Given the description of an element on the screen output the (x, y) to click on. 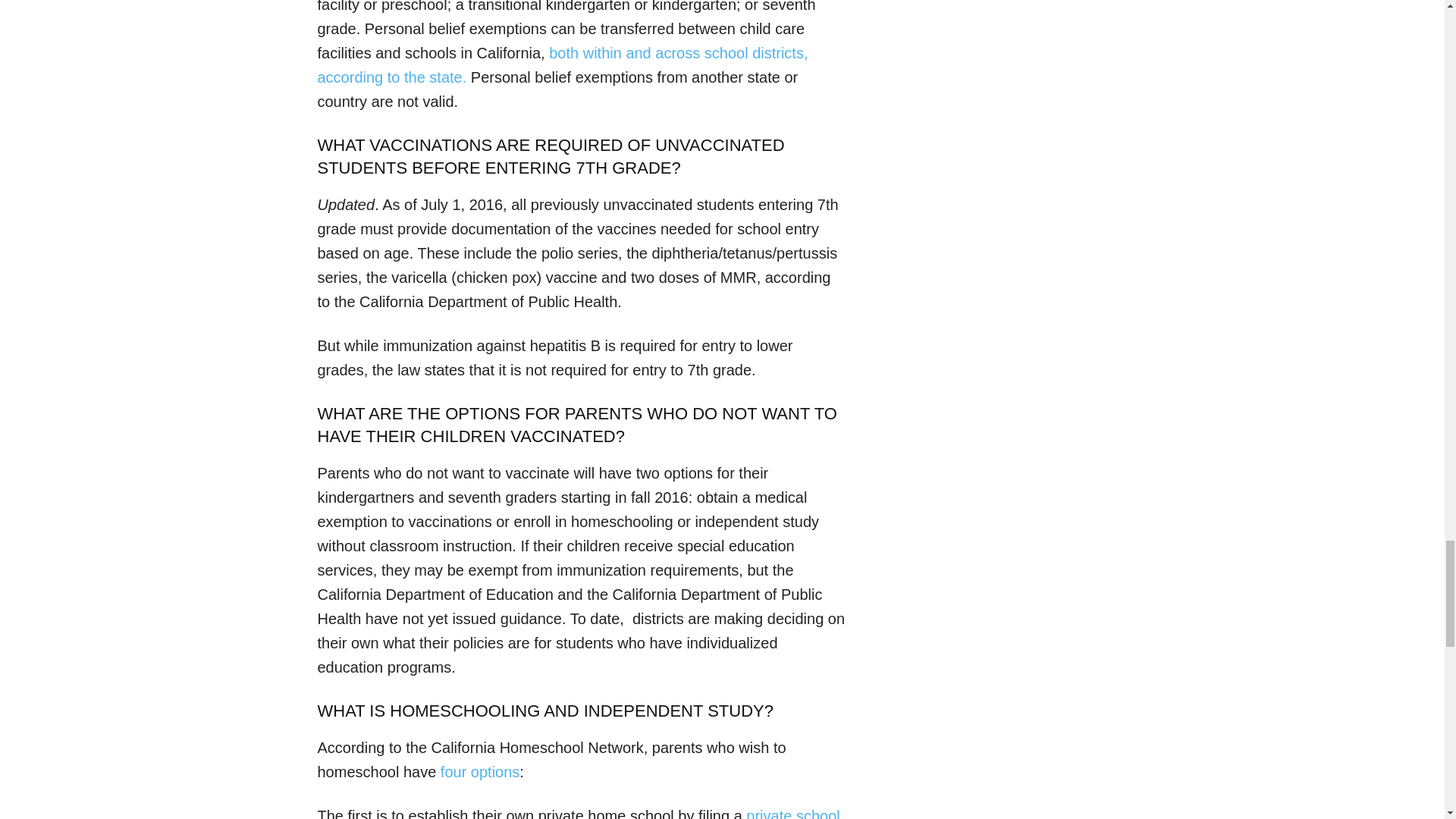
private school affidavit. (578, 813)
four options (480, 771)
